Given the description of an element on the screen output the (x, y) to click on. 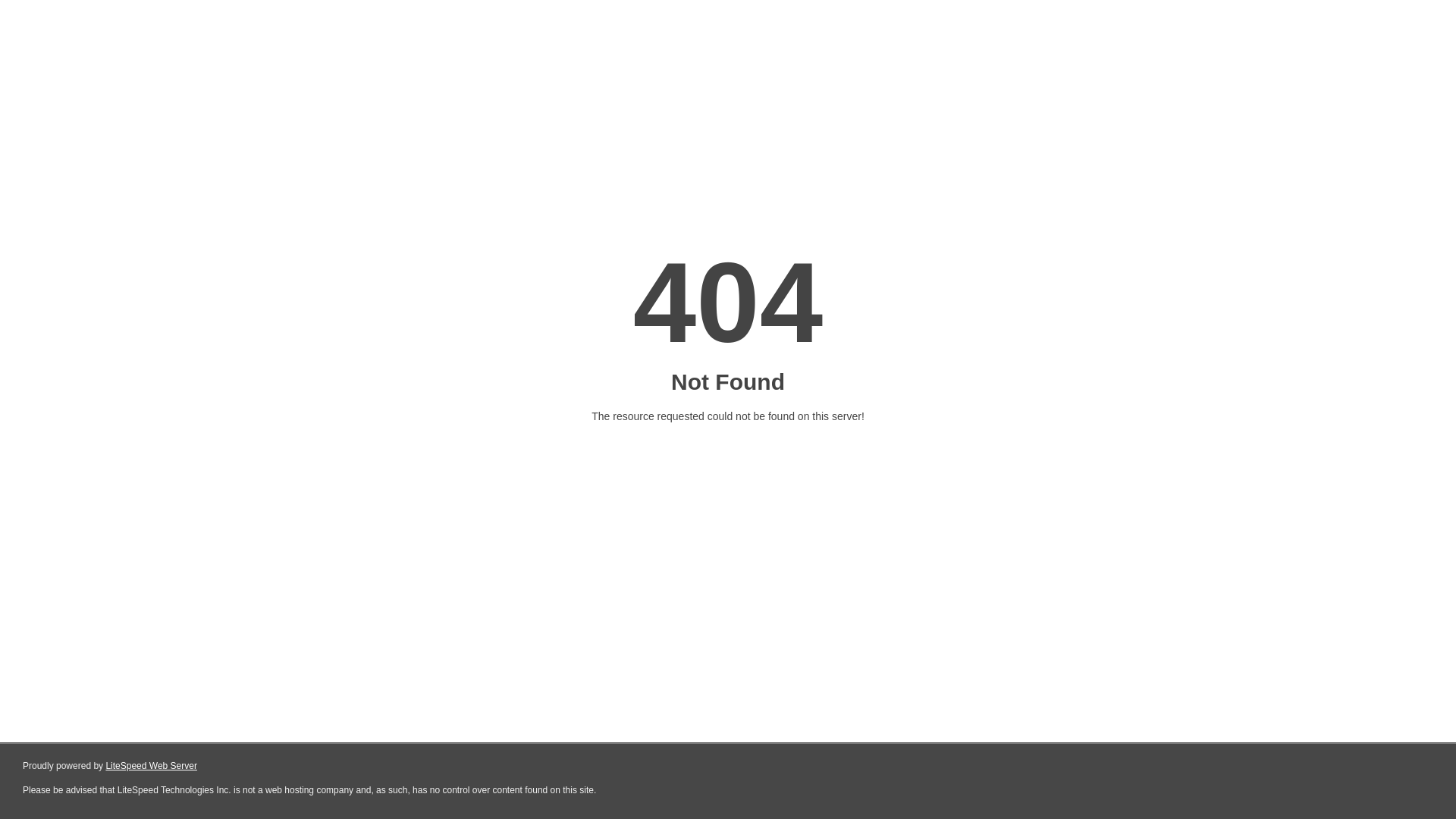
LiteSpeed Web Server Element type: text (151, 765)
